Given the description of an element on the screen output the (x, y) to click on. 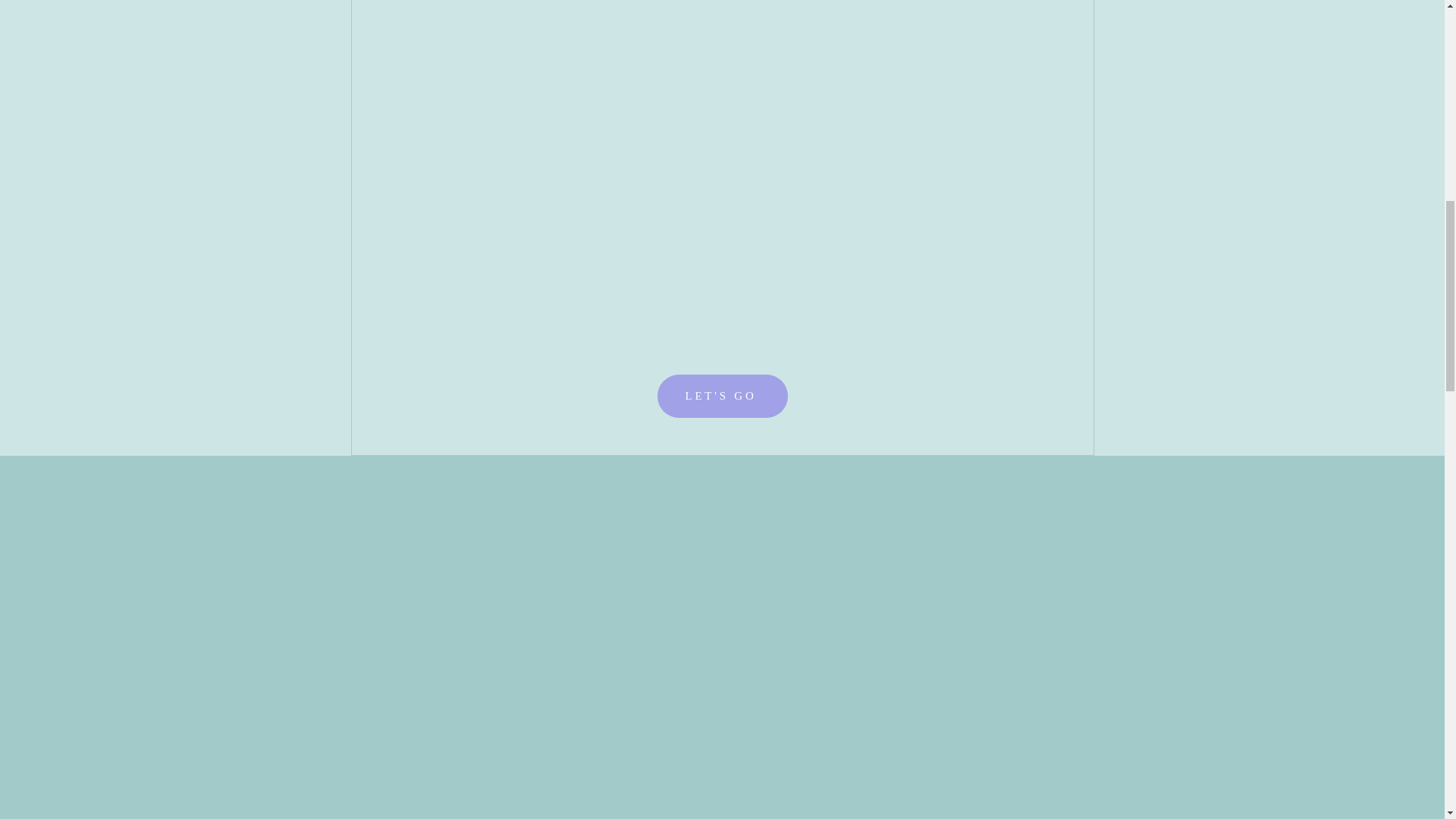
LET'S GO (721, 395)
The Vitruvian Heir Trilogy (721, 10)
